Given the description of an element on the screen output the (x, y) to click on. 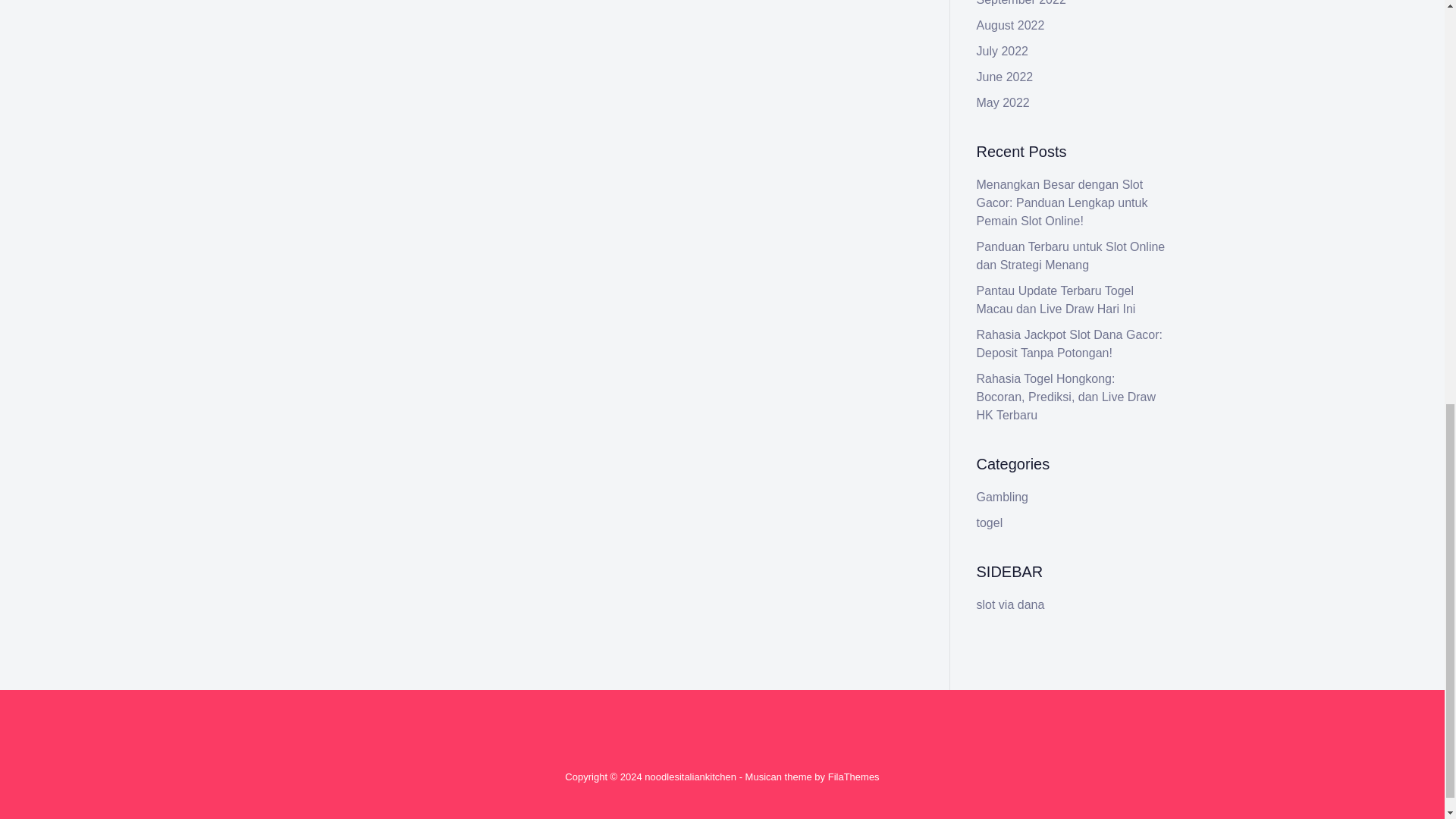
May 2022 (1002, 102)
Pantau Update Terbaru Togel Macau dan Live Draw Hari Ini (1055, 299)
September 2022 (1020, 2)
June 2022 (1004, 76)
August 2022 (1010, 24)
Panduan Terbaru untuk Slot Online dan Strategi Menang (1071, 255)
noodlesitaliankitchen (690, 776)
July 2022 (1002, 51)
